Given the description of an element on the screen output the (x, y) to click on. 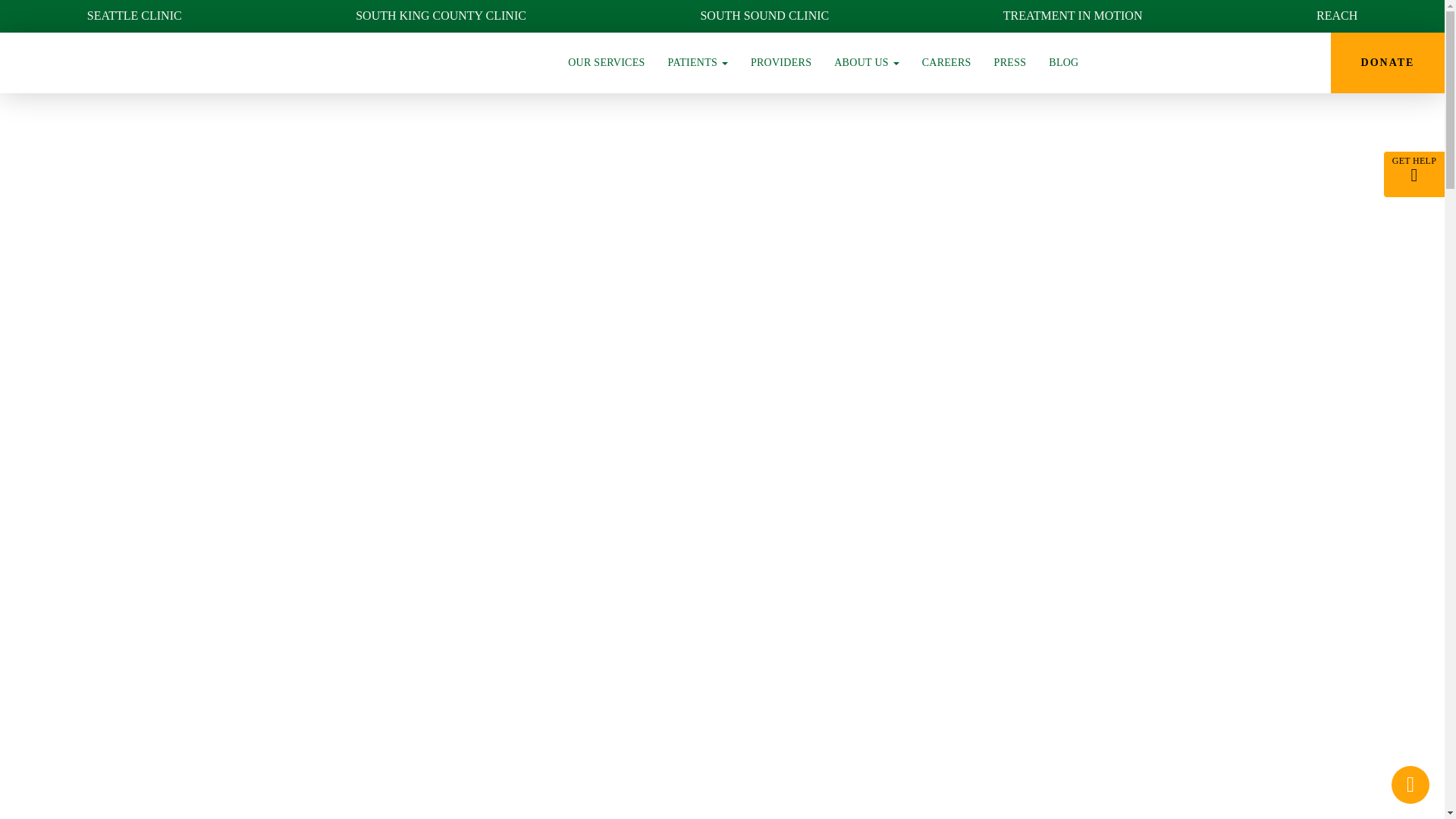
SOUTH SOUND CLINIC (764, 16)
Patients (697, 62)
SOUTH KING COUNTY CLINIC (440, 16)
About Us (866, 62)
TREATMENT IN MOTION (1072, 16)
PATIENTS (697, 62)
ABOUT US (866, 62)
Our Services (606, 62)
SEATTLE CLINIC (134, 16)
PRESS (1010, 62)
